Given the description of an element on the screen output the (x, y) to click on. 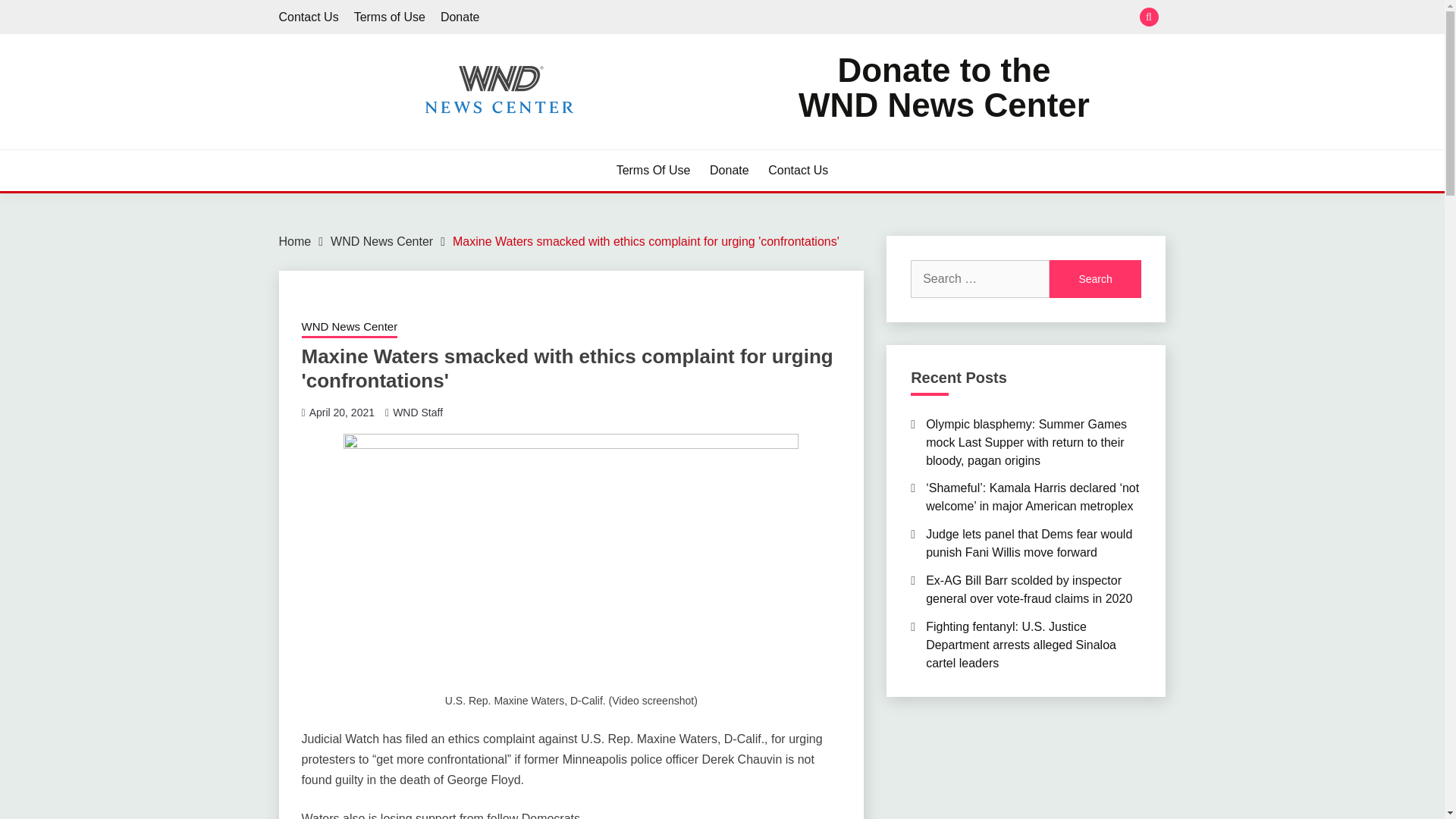
WND News Center (349, 328)
Contact Us (798, 170)
Search (832, 18)
Terms Of Use (652, 170)
Search (943, 87)
Donate (1095, 279)
Terms of Use (729, 170)
April 20, 2021 (389, 16)
Donate (341, 412)
Search (460, 16)
Search (1095, 279)
WND News Center (1095, 279)
